Given the description of an element on the screen output the (x, y) to click on. 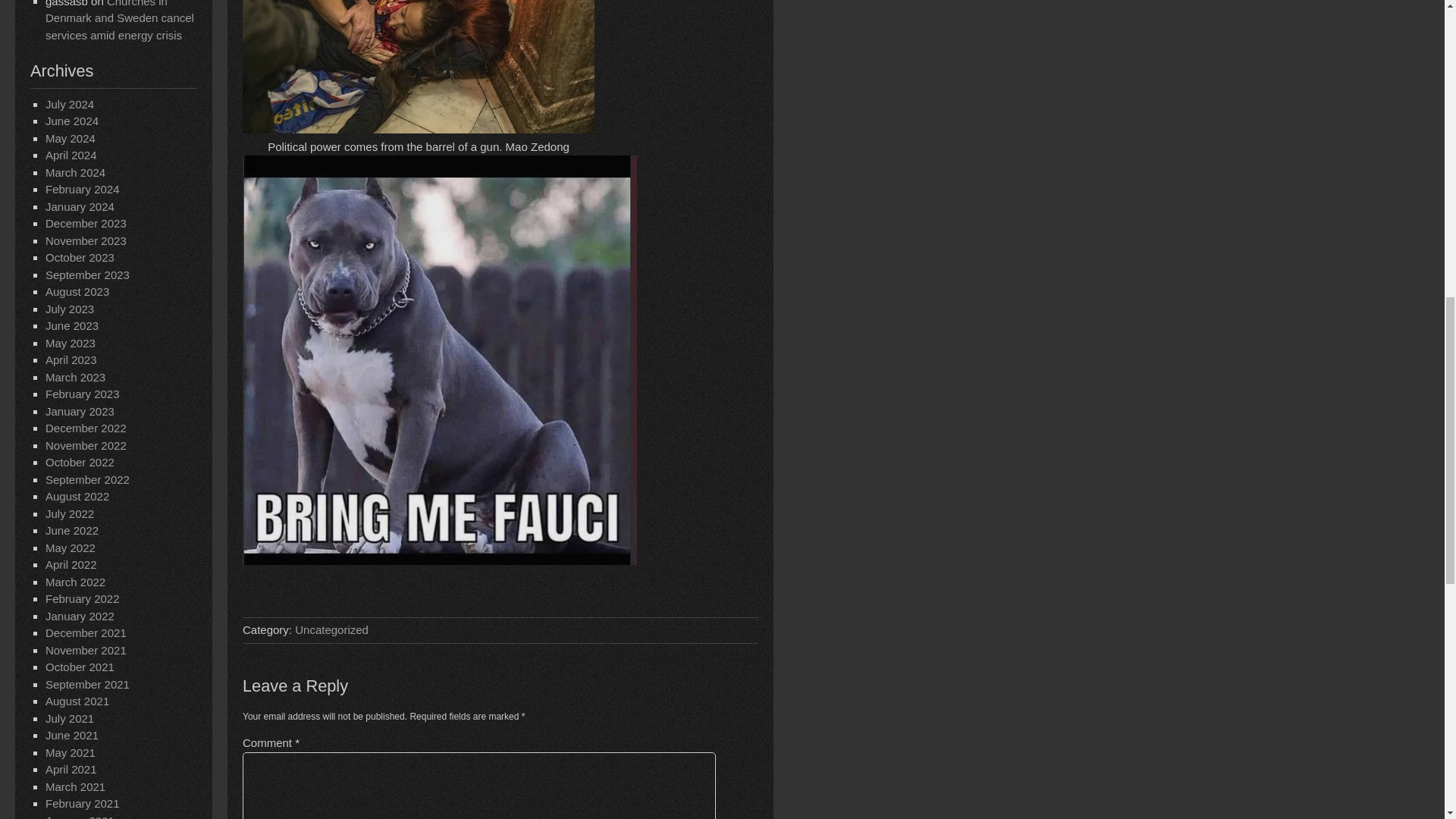
March 2024 (74, 172)
September 2022 (87, 479)
December 2023 (85, 223)
November 2023 (85, 240)
March 2023 (74, 377)
September 2023 (87, 274)
February 2024 (82, 188)
May 2024 (70, 137)
October 2023 (80, 256)
October 2022 (80, 461)
January 2023 (80, 410)
June 2024 (72, 120)
August 2022 (77, 495)
June 2023 (72, 325)
